Given the description of an element on the screen output the (x, y) to click on. 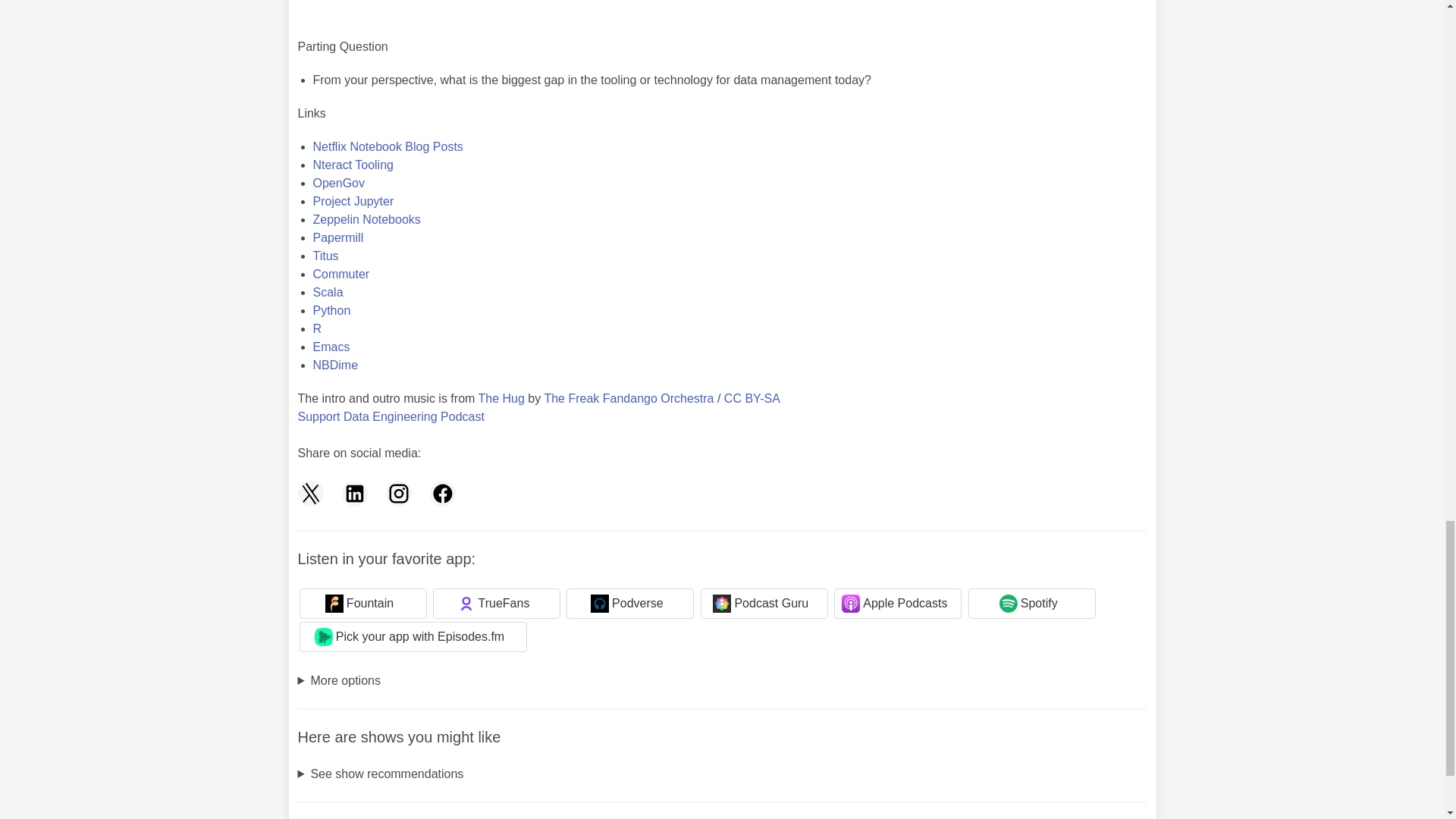
NBDime (335, 364)
Papermill (337, 237)
Listen on Podverse (630, 603)
Zeppelin Notebooks (366, 219)
Titus (325, 255)
Nteract Tooling (353, 164)
Listen on TrueFans (496, 603)
Listen on Fountain (362, 603)
Python (331, 309)
Pick your app with Episodes.fm (411, 636)
